Given the description of an element on the screen output the (x, y) to click on. 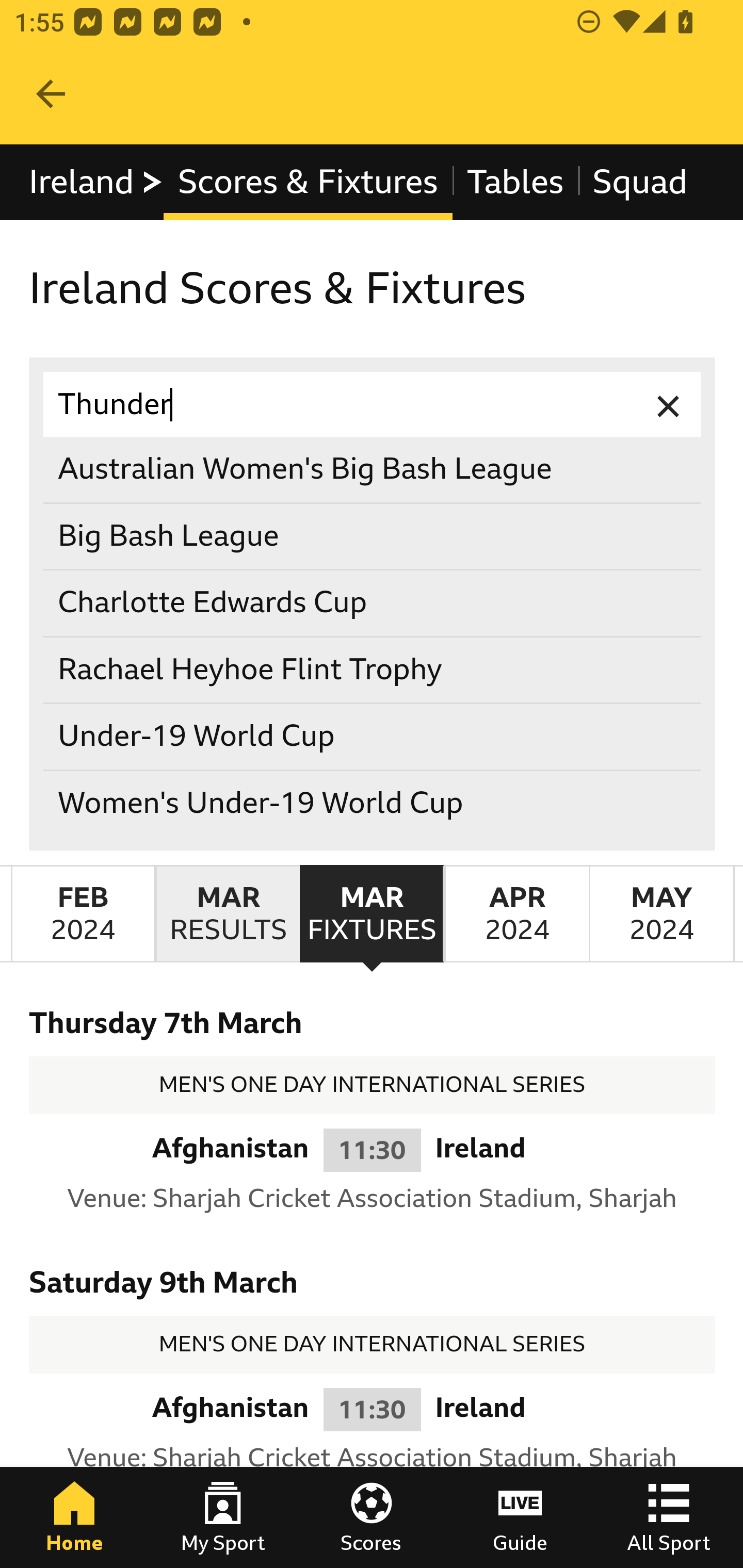
Navigate up (50, 93)
Ireland  (96, 181)
Scores & Fixtures (307, 181)
Tables (515, 181)
Squad (640, 181)
Thunder (372, 404)
Clear input (669, 404)
Big Bash League (372, 535)
Charlotte Edwards Cup (372, 602)
Rachael Heyhoe Flint Trophy (372, 669)
Under-19 World Cup (372, 736)
Women's Under-19 World Cup (372, 802)
February2024 February 2024 (83, 914)
MarchRESULTS March RESULTS (227, 914)
MarchFIXTURES, Selected March FIXTURES , Selected (371, 914)
April2024 April 2024 (516, 914)
May2024 May 2024 (661, 914)
My Sport (222, 1517)
Scores (371, 1517)
Guide (519, 1517)
All Sport (668, 1517)
